Given the description of an element on the screen output the (x, y) to click on. 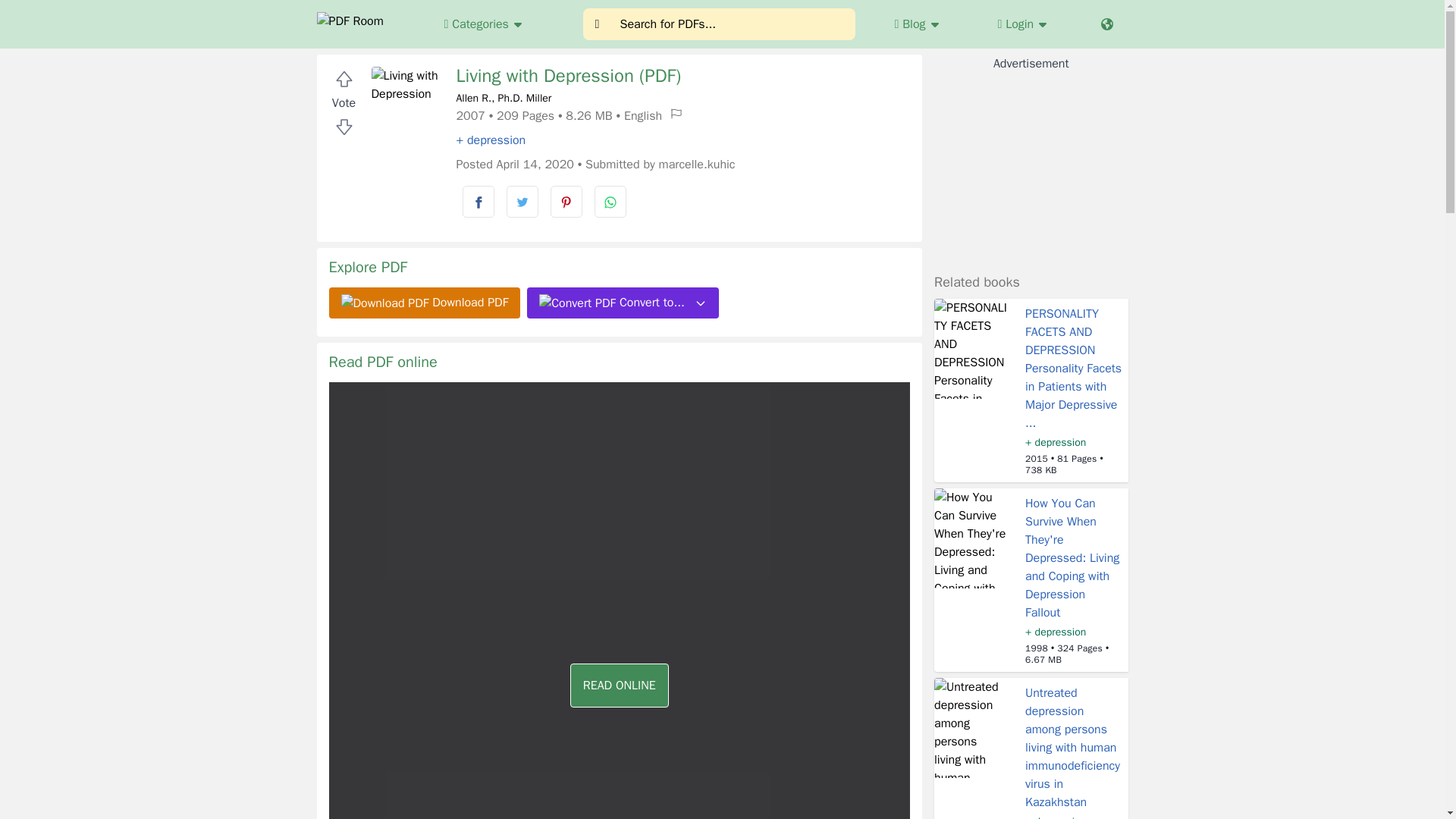
Report (676, 113)
